Given the description of an element on the screen output the (x, y) to click on. 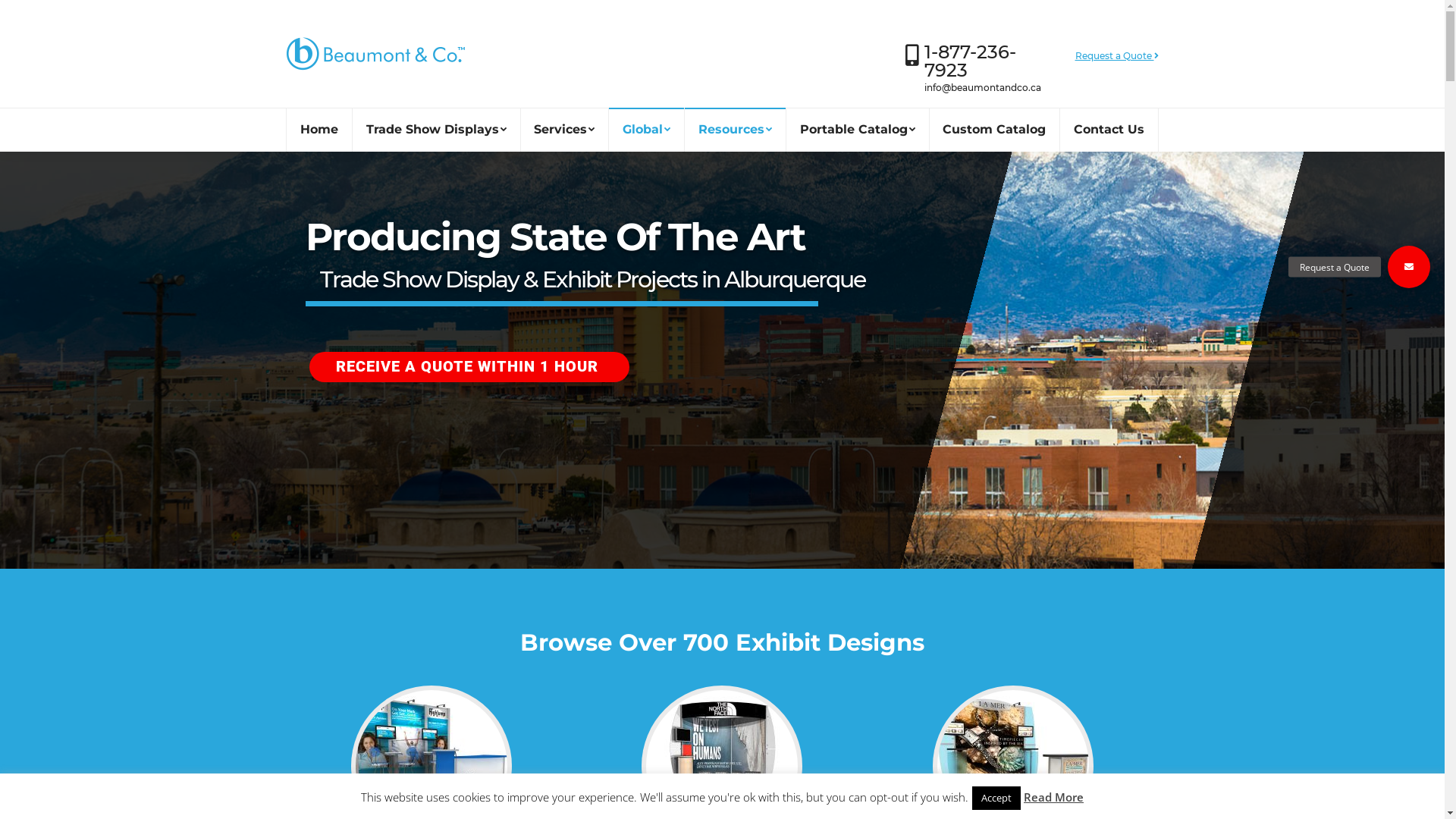
Accept Element type: text (996, 797)
Contact Us Element type: text (1109, 129)
Resources Element type: text (734, 129)
info@beaumontandco.ca Element type: text (981, 87)
1-877-236-7923 Element type: text (969, 60)
Home Element type: text (319, 129)
Portable Catalog Element type: text (856, 129)
Request a Quote Element type: text (1116, 55)
Read More Element type: text (1053, 796)
Request a Quote Element type: text (1408, 266)
Global Element type: text (646, 129)
Trade Show Displays Element type: text (435, 129)
Custom Catalog Element type: text (994, 129)
Services Element type: text (564, 129)
